Given the description of an element on the screen output the (x, y) to click on. 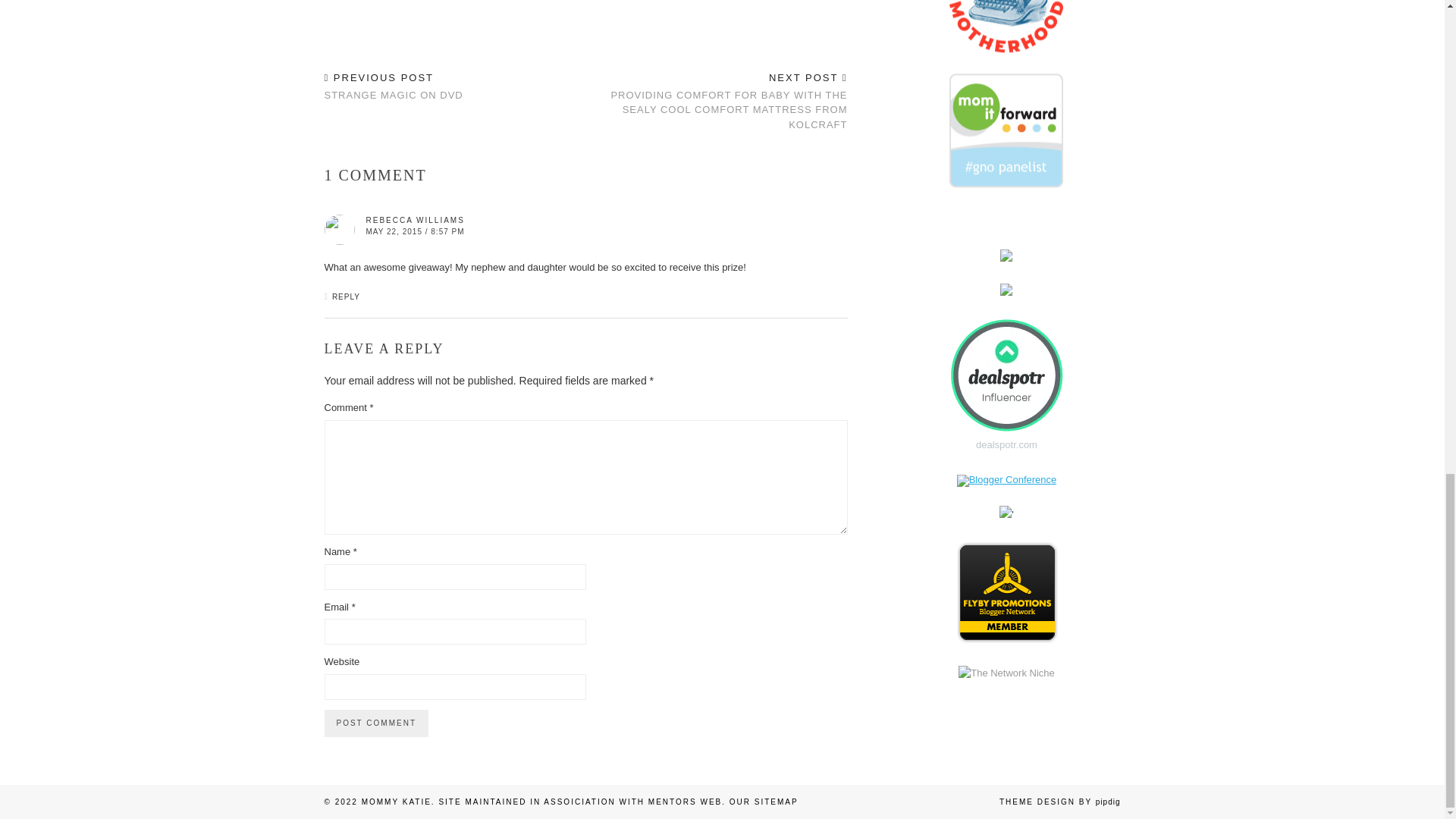
REPLY (345, 296)
Post Comment (376, 723)
I blog with The Motherhood (1005, 277)
The Network Niche (1006, 672)
Post Comment (376, 723)
Blogger Conference (393, 86)
